Given the description of an element on the screen output the (x, y) to click on. 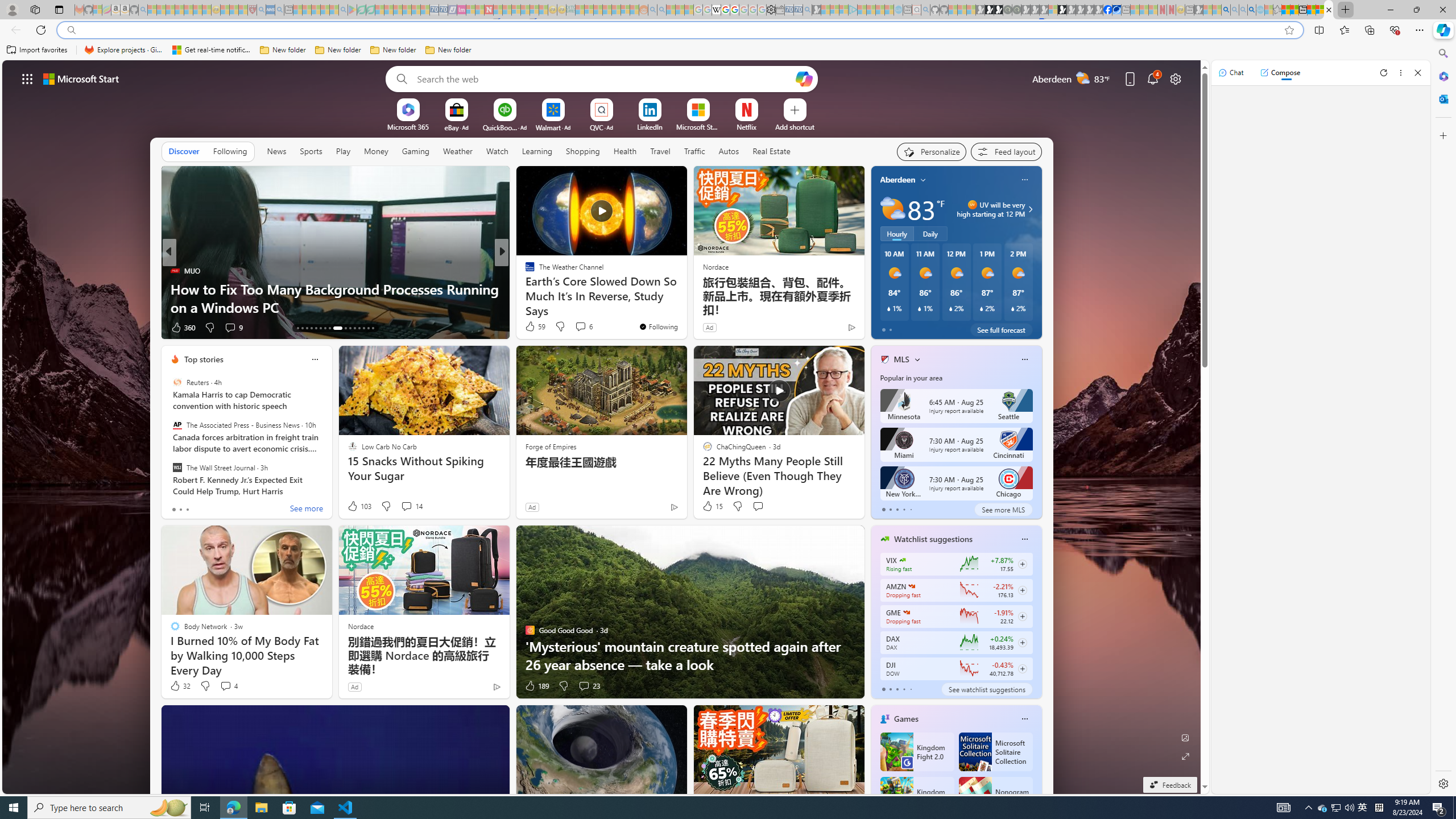
MLS (901, 359)
Favorites bar (715, 49)
Wallet - Sleeping (779, 9)
Play (342, 151)
AutomationID: tab-24 (354, 328)
CBOE Market Volatility Index (901, 559)
Tired of Google? Try These 5 Other Search Engines Instead (684, 298)
Aberdeen, Hong Kong SAR weather forecast | Microsoft Weather (1294, 9)
